Given the description of an element on the screen output the (x, y) to click on. 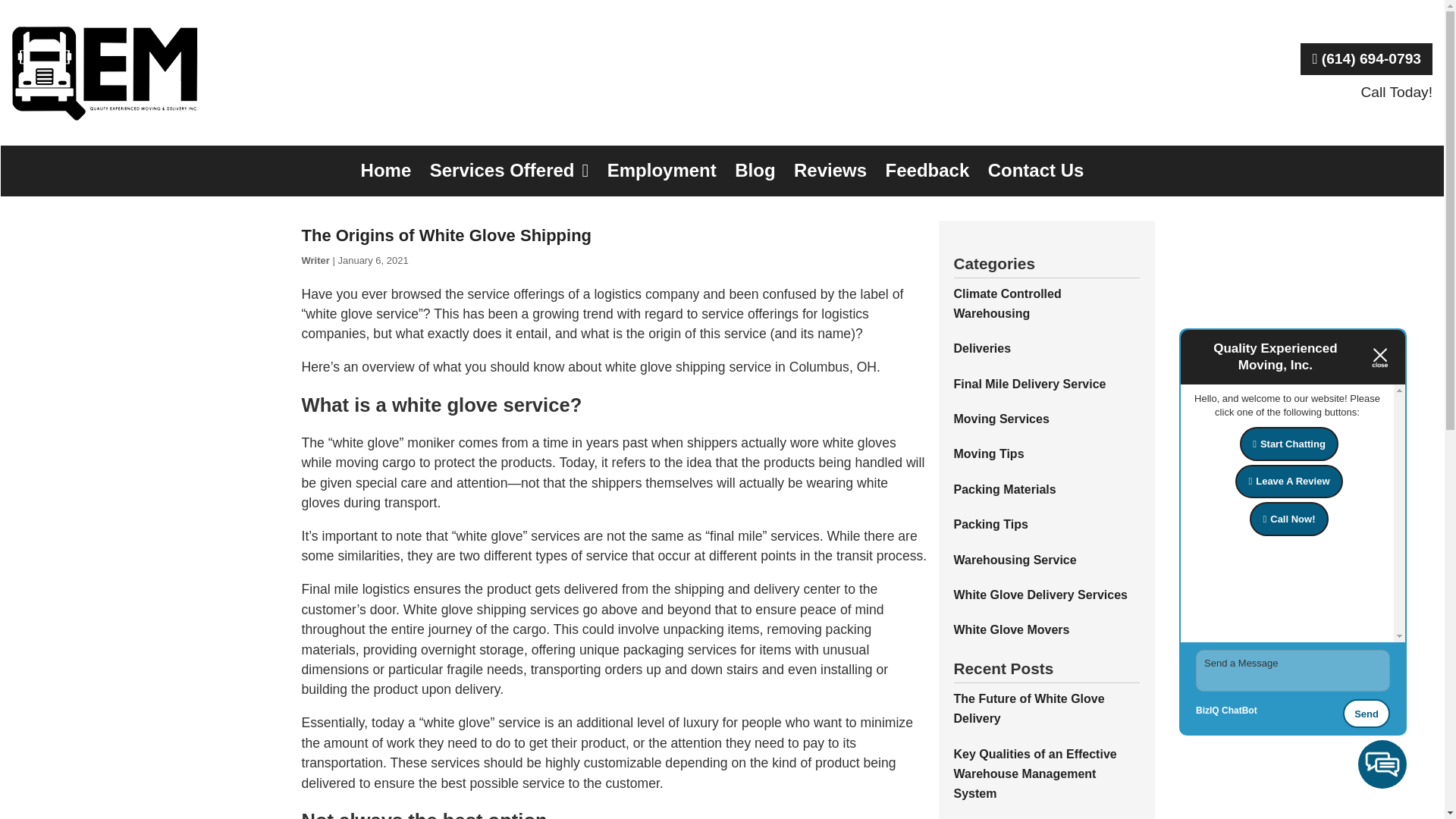
Moving Tips (989, 453)
Reviews (830, 170)
Moving Services (1001, 418)
Warehousing Service (1015, 559)
Deliveries (982, 348)
BizIQ (1207, 711)
Contact Us (1035, 170)
White Glove Movers (1011, 629)
Final Mile Delivery Service (1029, 383)
Call Now! (1288, 518)
The Origins of White Glove Shipping (446, 235)
Home (386, 170)
White Glove Delivery Services (1039, 594)
Start Chatting (1289, 443)
Packing Tips (990, 523)
